Given the description of an element on the screen output the (x, y) to click on. 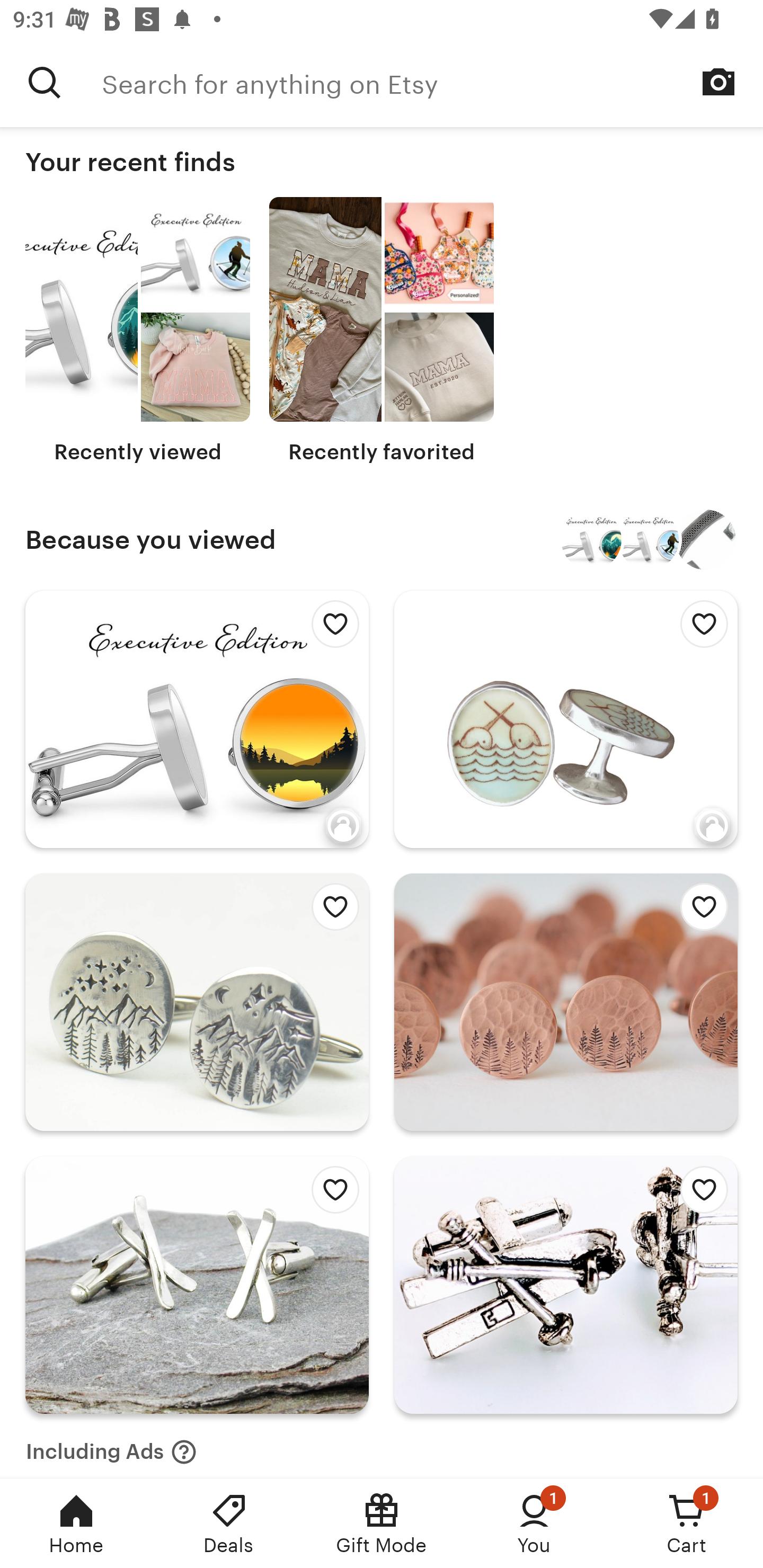
Search for anything on Etsy (44, 82)
Search by image (718, 81)
Search for anything on Etsy (432, 82)
Recently viewed (137, 330)
Recently favorited (381, 330)
Ski Cuff Links Add Ski Cuff Links to favorites (565, 1285)
Add Ski Cuff Links to favorites (699, 1194)
Including Ads (111, 1446)
Deals (228, 1523)
Gift Mode (381, 1523)
You, 1 new notification You (533, 1523)
Cart, 1 new notification Cart (686, 1523)
